Given the description of an element on the screen output the (x, y) to click on. 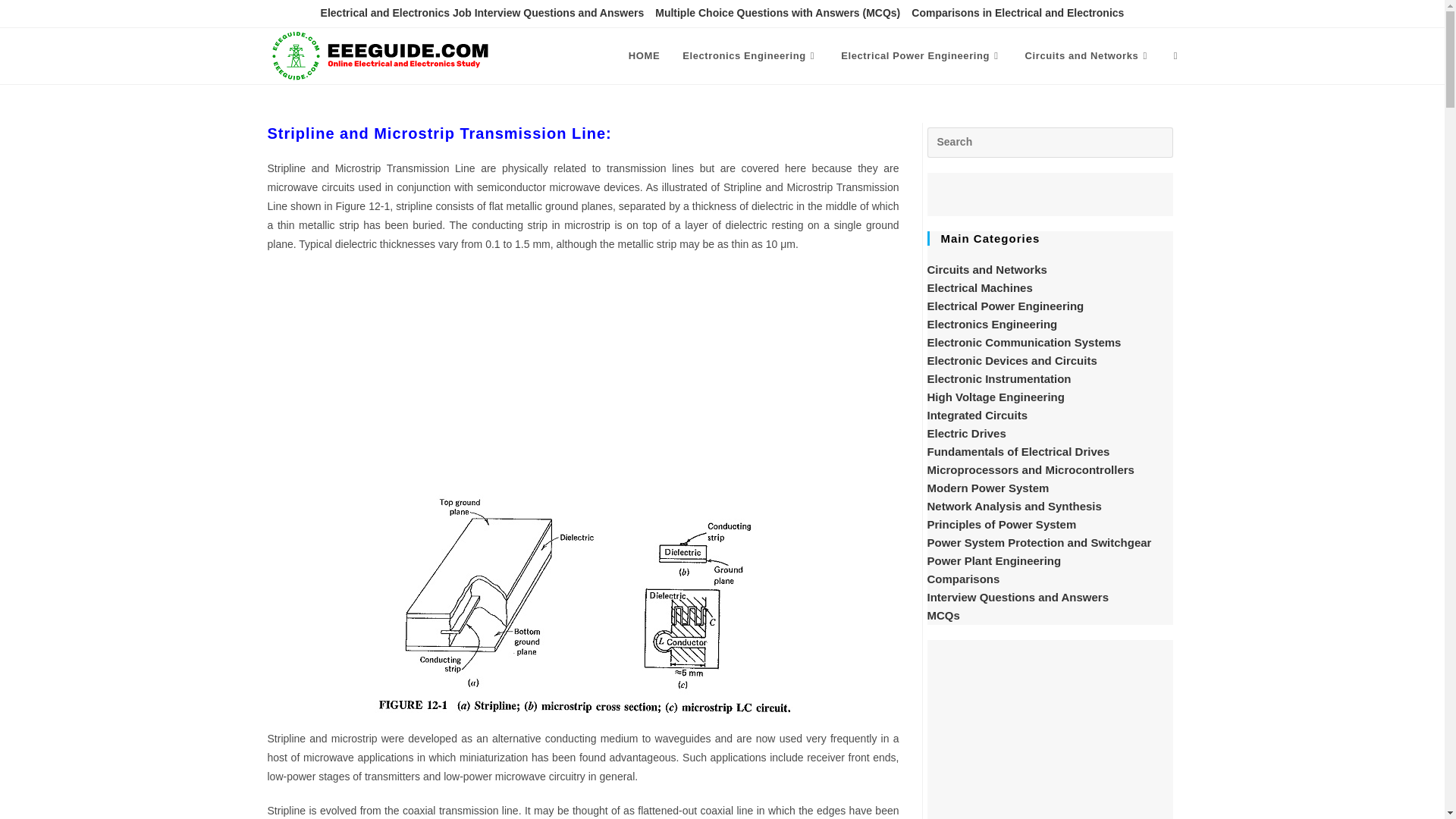
HOME (644, 55)
Electronics Engineering (750, 55)
Electrical Power Engineering (921, 55)
Comparisons in Electrical and Electronics (1017, 13)
Circuits and Networks (1087, 55)
